Given the description of an element on the screen output the (x, y) to click on. 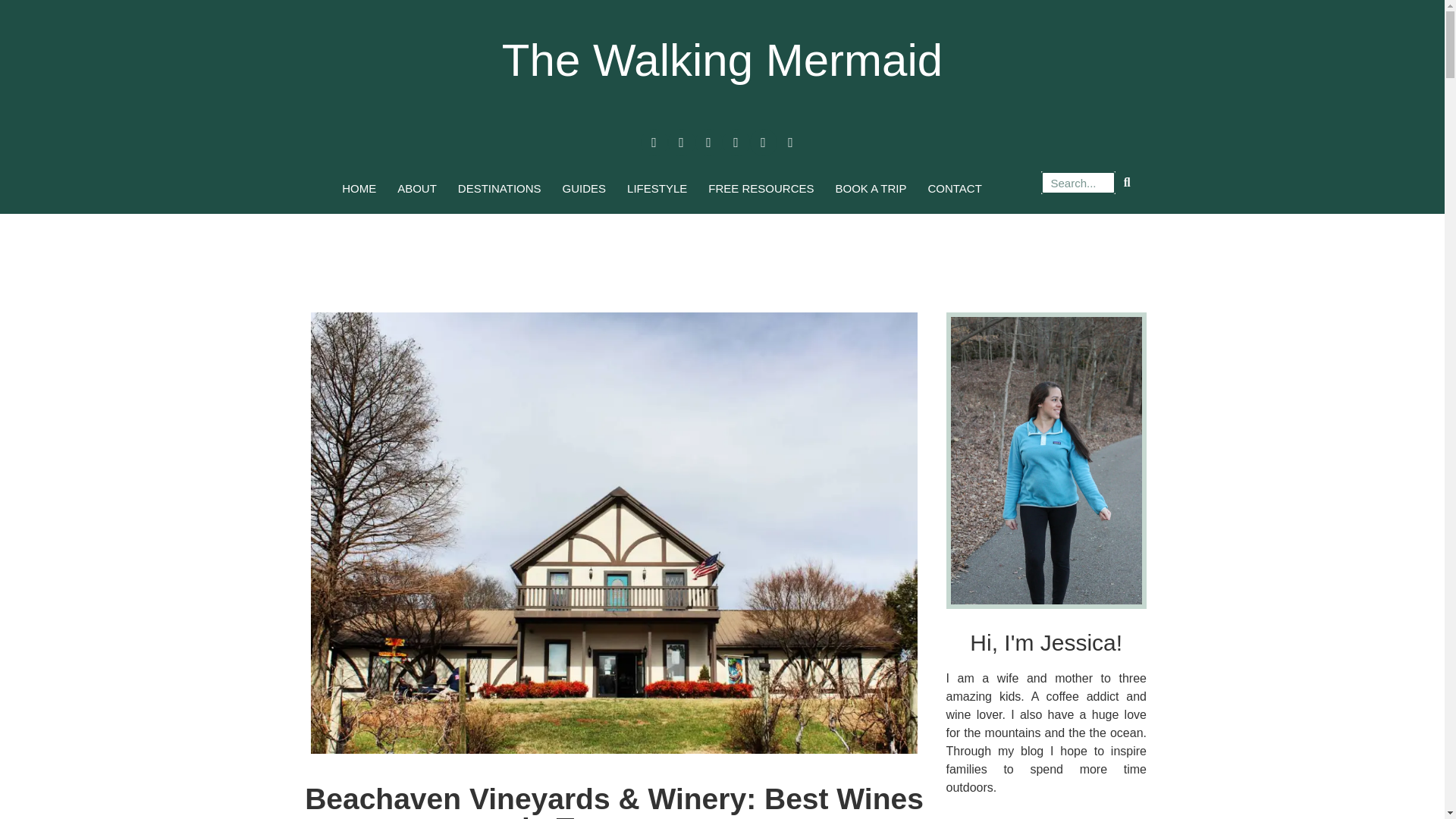
LIFESTYLE (656, 188)
HOME (359, 188)
GUIDES (584, 188)
ABOUT (416, 188)
DESTINATIONS (498, 188)
The Walking Mermaid (722, 60)
